Given the description of an element on the screen output the (x, y) to click on. 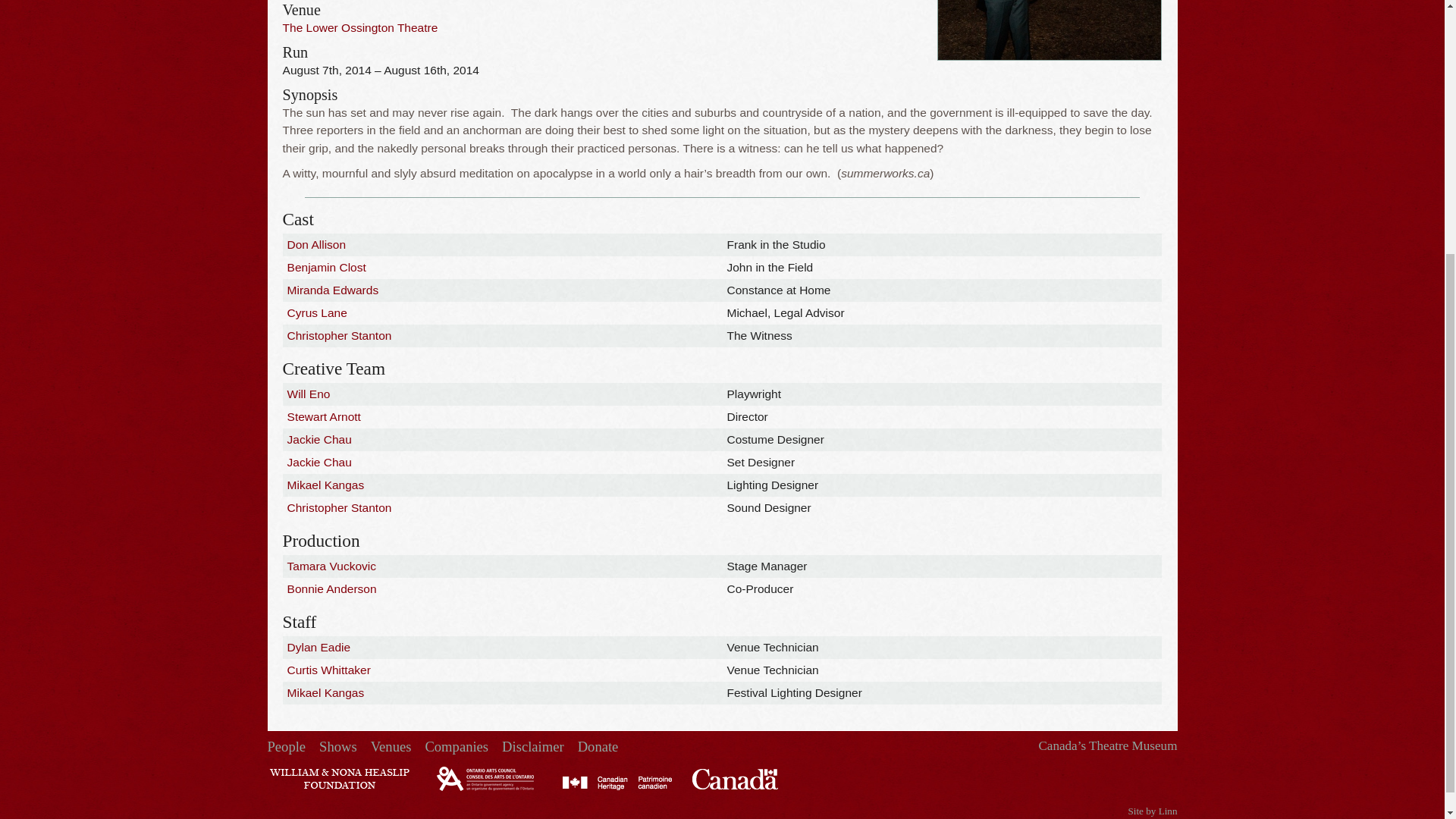
Jackie Chau (319, 439)
Donate (598, 746)
Site by Linn (1151, 810)
Will Eno (308, 393)
Cyrus Lane (316, 312)
Curtis Whittaker (328, 669)
Miranda Edwards (332, 289)
The Lower Ossington Theatre (360, 27)
Christopher Stanton (338, 507)
Don Allison (316, 244)
Stewart Arnott (323, 416)
Bonnie Anderson (331, 588)
Mikael Kangas (325, 484)
Benjamin Clost (326, 267)
Mikael Kangas (325, 692)
